Given the description of an element on the screen output the (x, y) to click on. 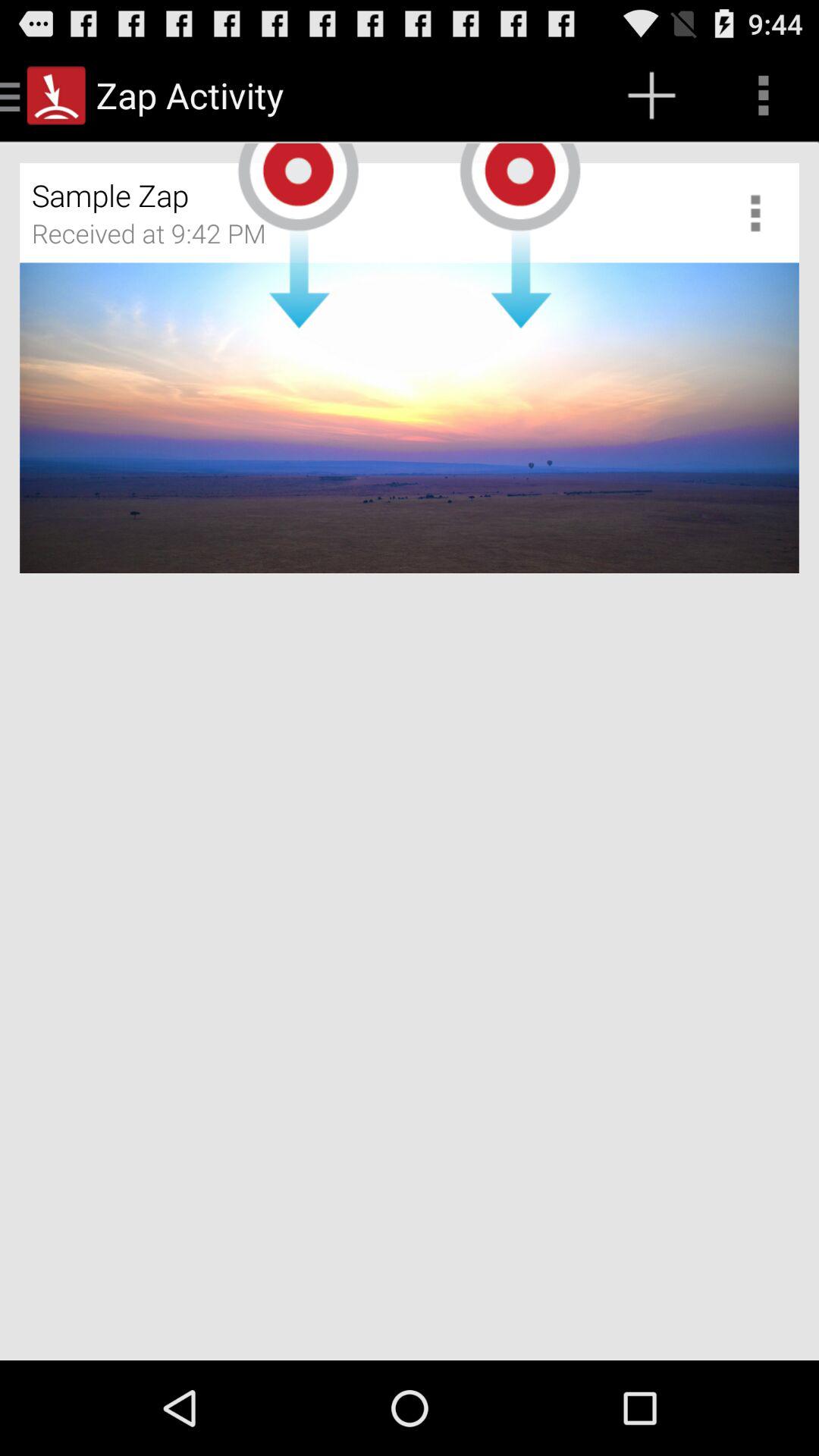
flip until the sample zap (320, 189)
